Given the description of an element on the screen output the (x, y) to click on. 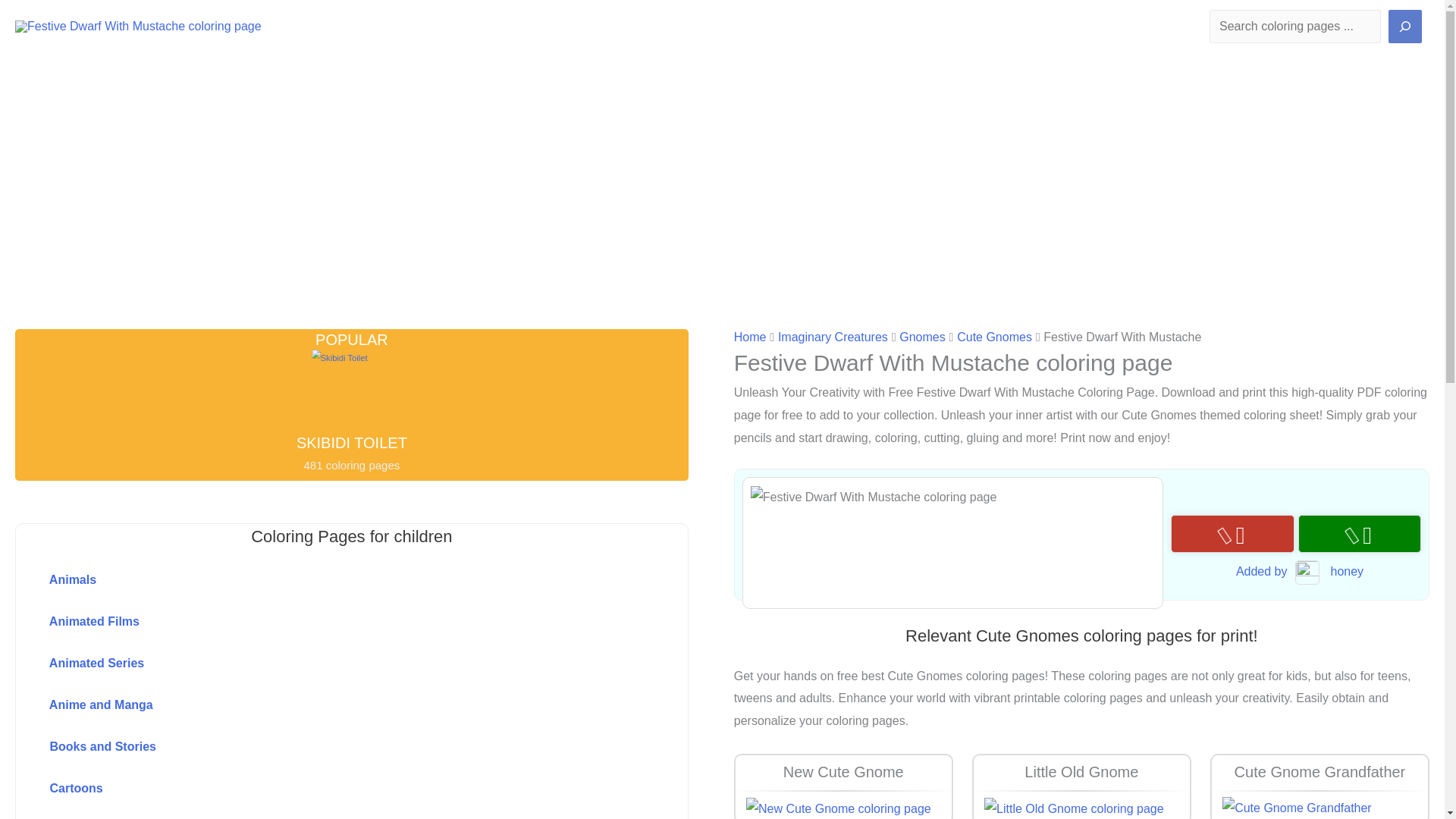
Cartoons (318, 788)
Animated Films coloring pages (318, 622)
Anime and Manga coloring pages (318, 706)
Anime and Manga (318, 706)
Home (750, 336)
Animals (318, 580)
Animated Series coloring pages (318, 664)
Animals coloring pages (318, 580)
Animated Films (318, 622)
Books and Stories (318, 747)
Cartoons coloring pages (318, 788)
Books and Stories coloring pages (318, 747)
Animated Series (318, 664)
